Given the description of an element on the screen output the (x, y) to click on. 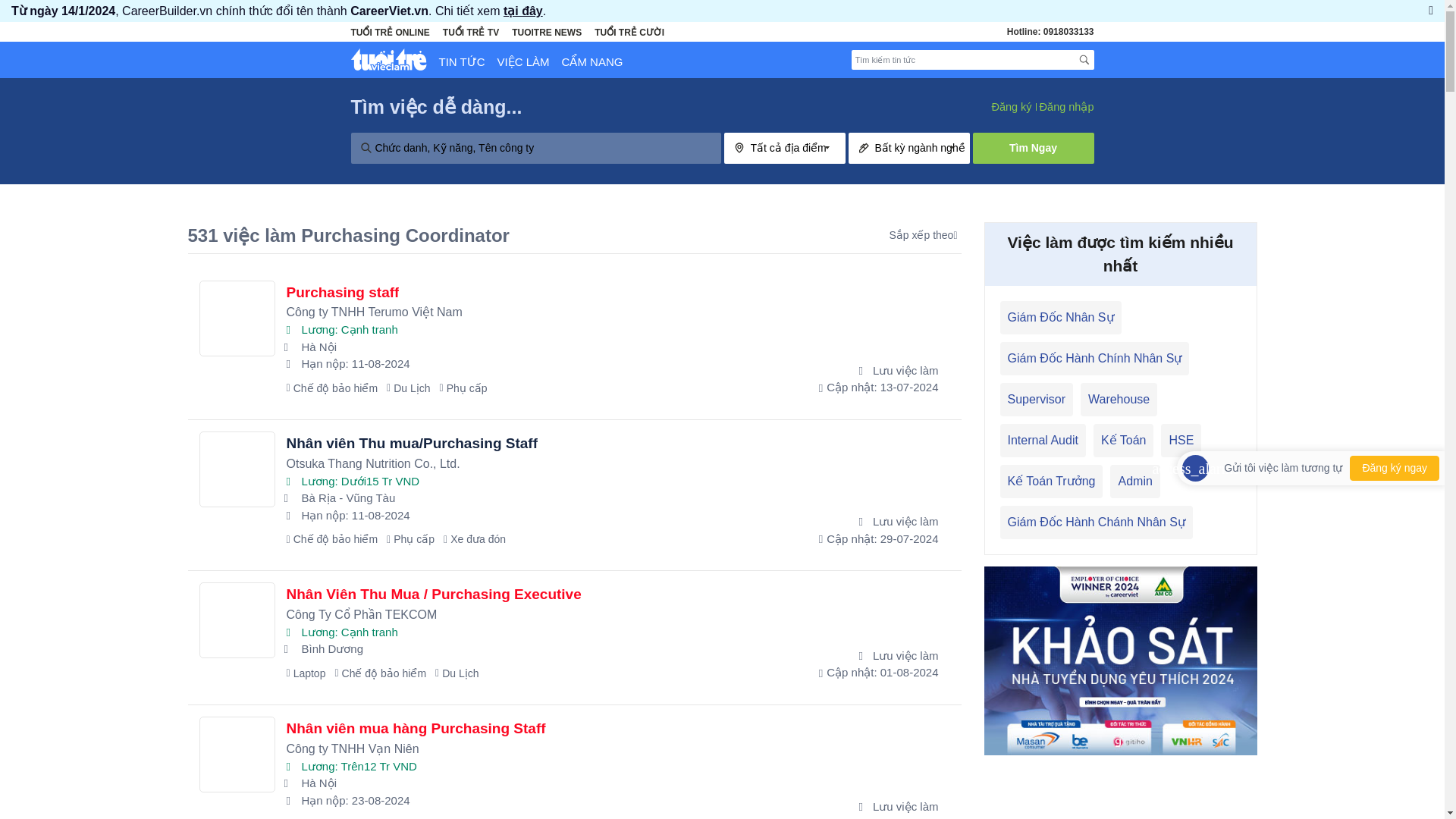
Purchasing staff (538, 364)
Otsuka Thang Nutrition Co., Ltd. (538, 464)
Otsuka Thang Nutrition Co., Ltd. (538, 464)
TUOITRE NEWS (546, 32)
Otsuka Thang Nutrition Co., Ltd. (237, 469)
Purchasing staff (342, 292)
Purchasing staff (342, 292)
